Given the description of an element on the screen output the (x, y) to click on. 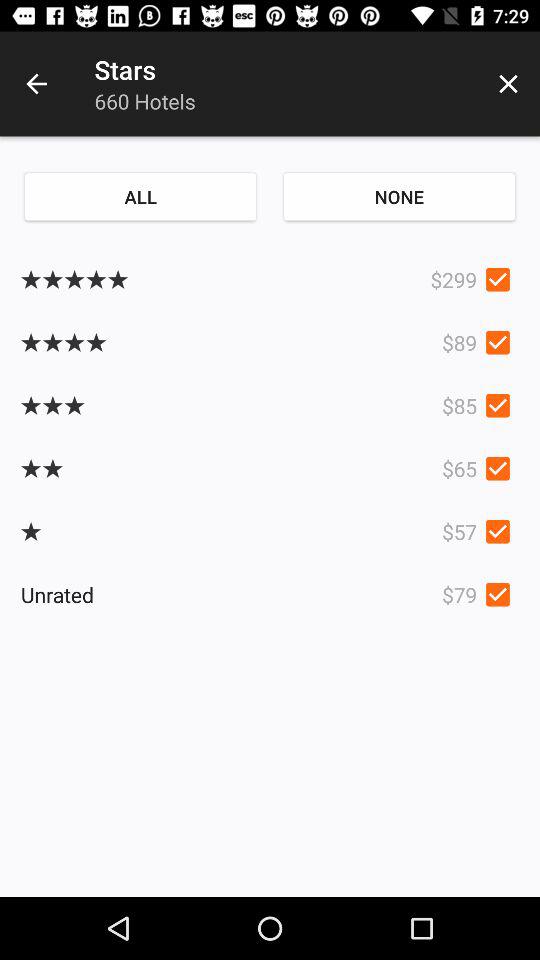
choose the all item (140, 196)
